Given the description of an element on the screen output the (x, y) to click on. 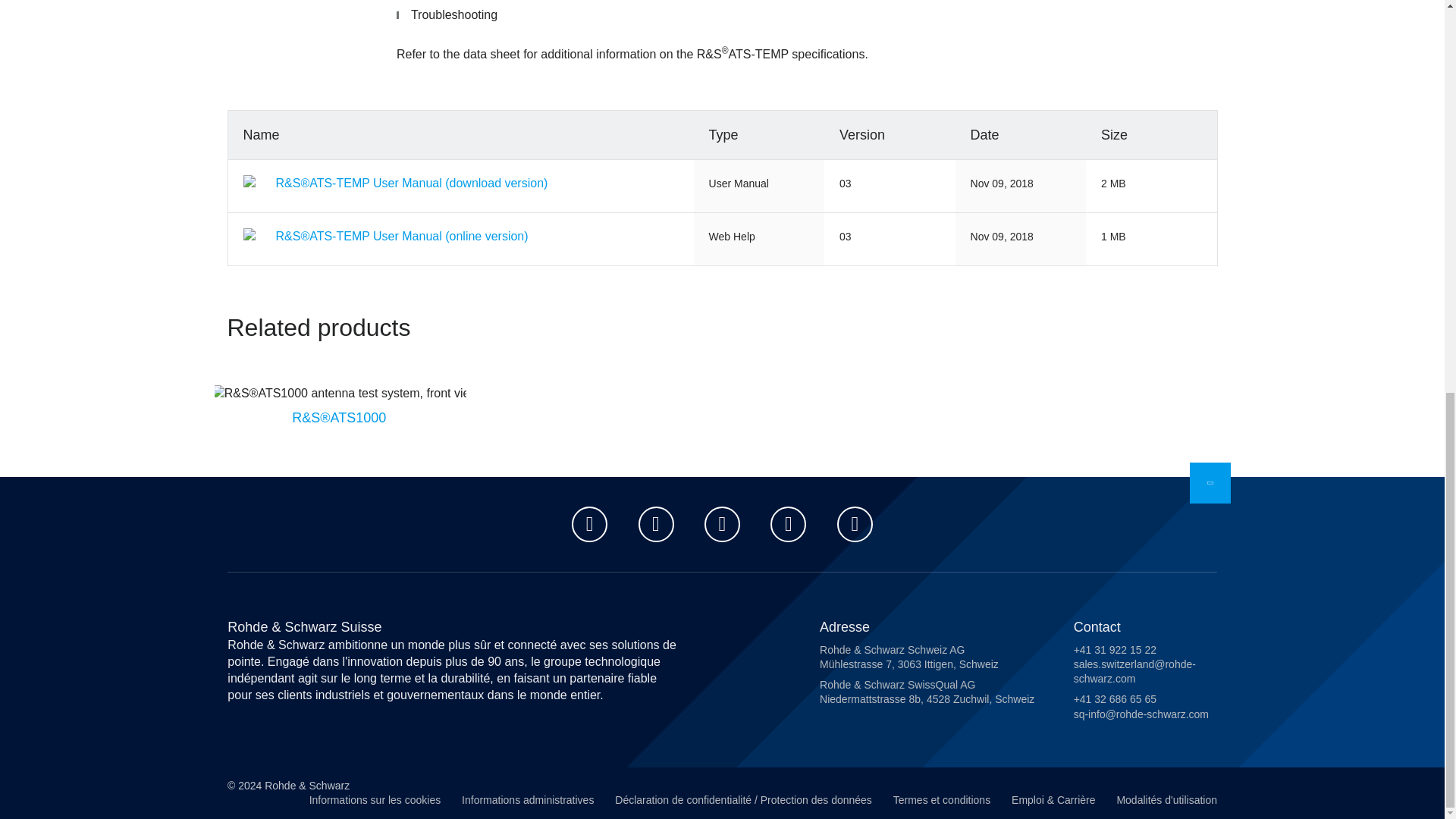
Termes et conditions (941, 801)
Informations administratives (527, 801)
Informations sur les cookies (374, 801)
